Given the description of an element on the screen output the (x, y) to click on. 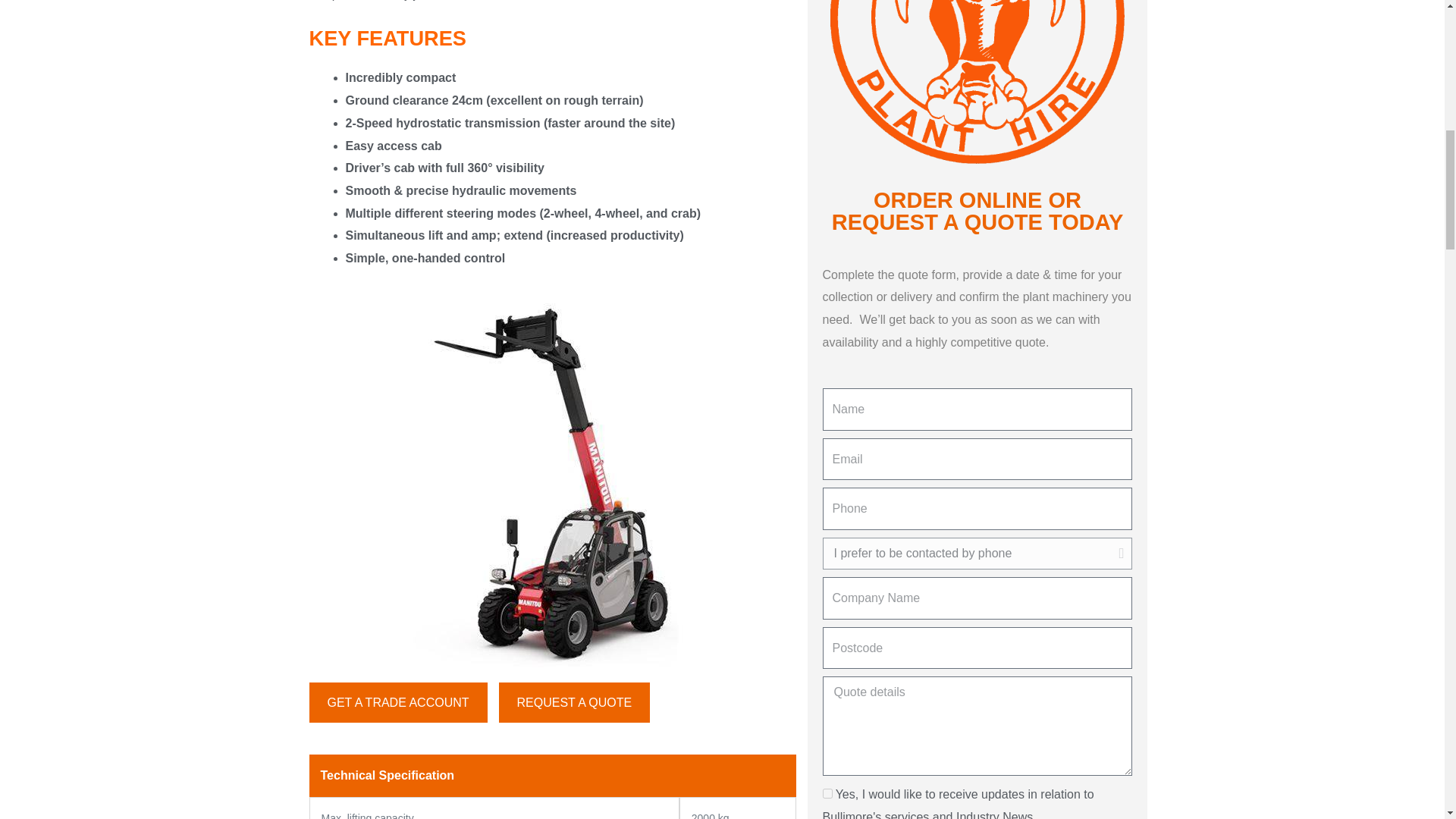
on (826, 793)
